Given the description of an element on the screen output the (x, y) to click on. 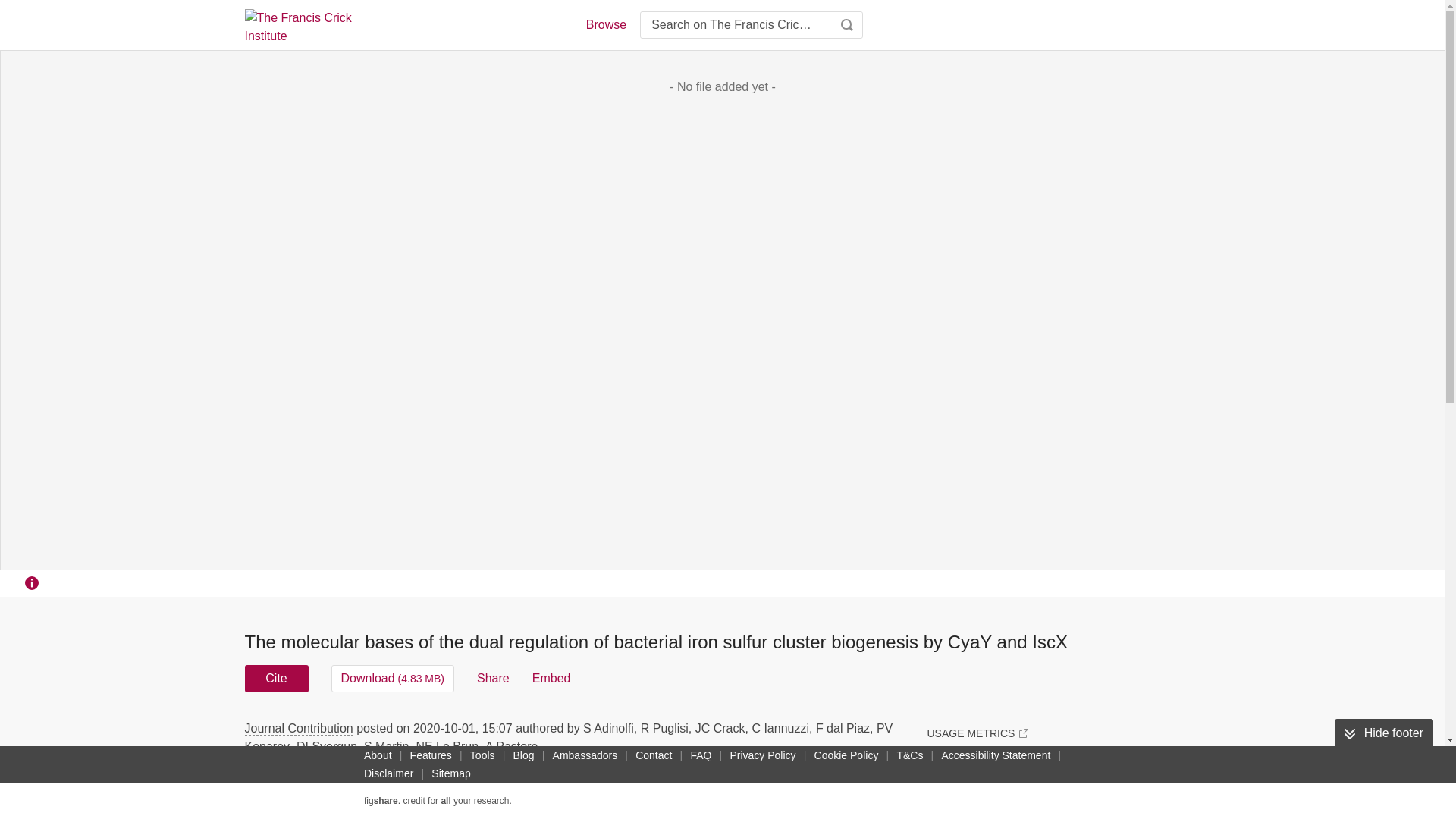
Features (431, 755)
Embed (551, 678)
Ambassadors (585, 755)
Contact (653, 755)
Tools (482, 755)
About (377, 755)
Share (493, 678)
Cite (275, 678)
Cookie Policy (846, 755)
Privacy Policy (762, 755)
